Given the description of an element on the screen output the (x, y) to click on. 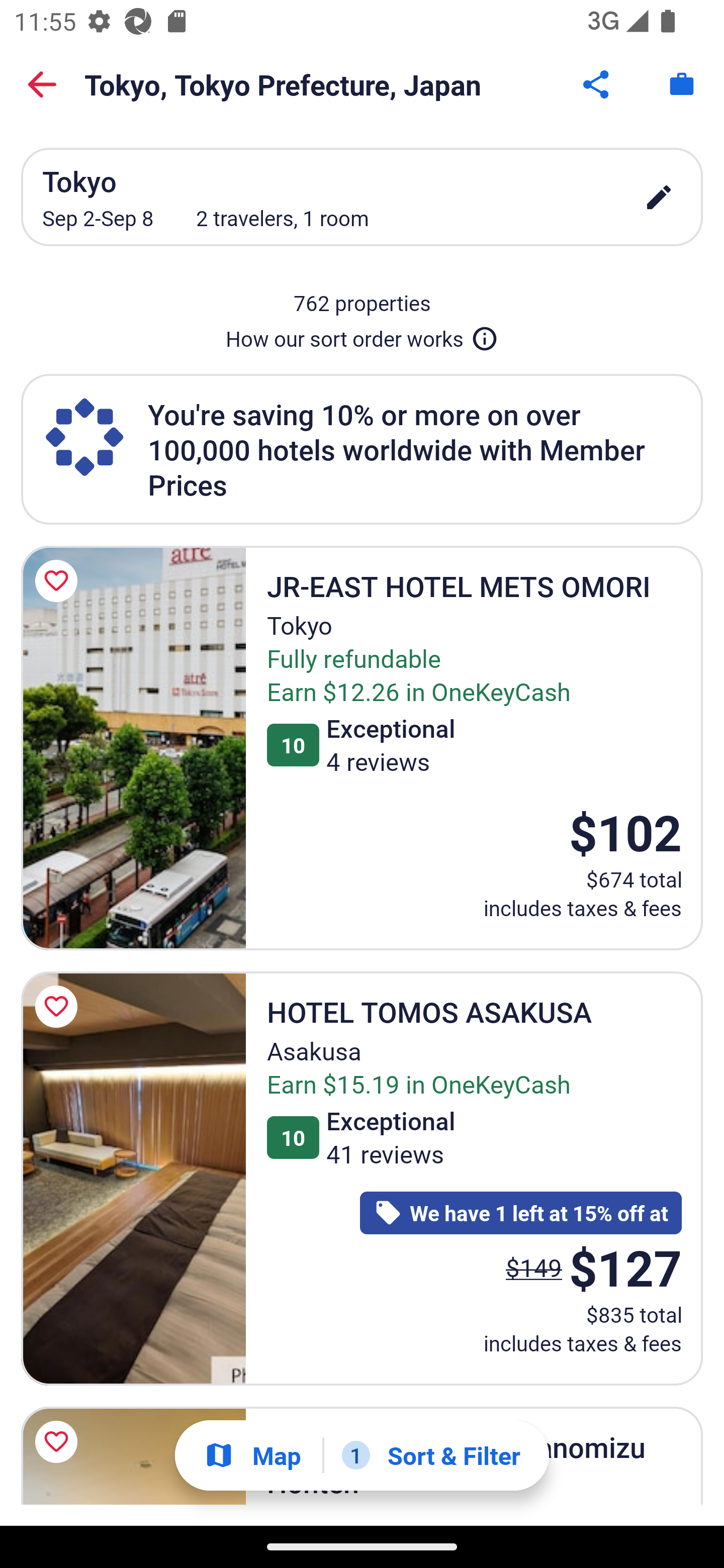
Back (42, 84)
Share Button (597, 84)
Trips. Button (681, 84)
Tokyo Sep 2-Sep 8 2 travelers, 1 room edit (361, 196)
How our sort order works (361, 334)
Save JR-EAST HOTEL METS OMORI to a trip (59, 580)
JR-EAST HOTEL METS OMORI (133, 747)
Save HOTEL TOMOS ASAKUSA to a trip (59, 1006)
HOTEL TOMOS ASAKUSA (133, 1179)
$149 The price was $149 (533, 1266)
Save Hotel Ryumeikan Ochanomizu Honten to a trip (59, 1441)
1 Sort & Filter 1 Filter applied. Filters Button (430, 1455)
Show map Map Show map Button (252, 1455)
